Given the description of an element on the screen output the (x, y) to click on. 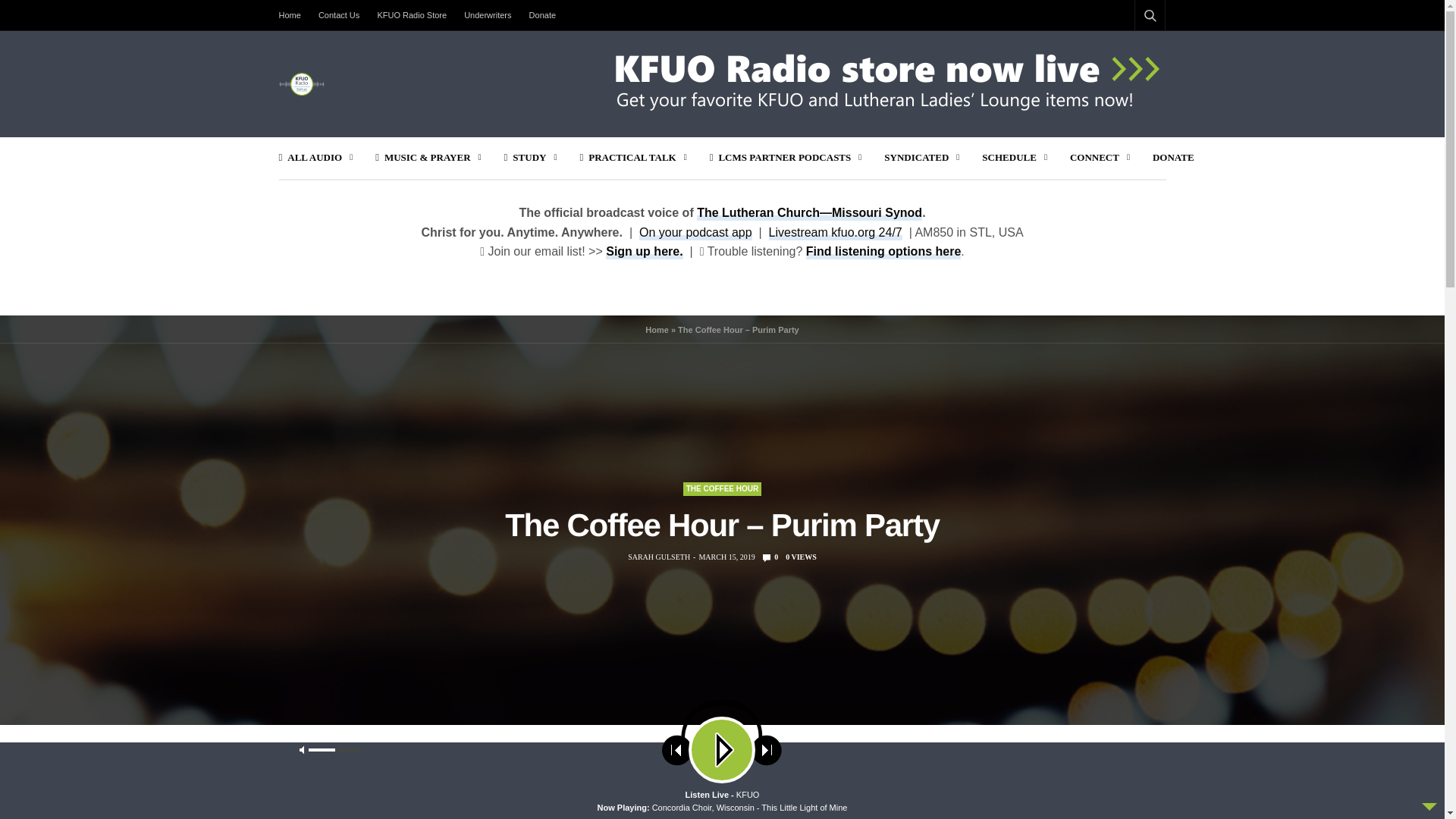
Home (293, 15)
Underwriters (487, 15)
Donate (542, 15)
Search (1125, 784)
Search (1129, 51)
Mute (800, 762)
ALL AUDIO (316, 157)
Posts by Sarah Gulseth (658, 557)
KFUO Radio Store (411, 15)
Contact Us (338, 15)
The Coffee Hour (721, 489)
Play (372, 762)
